Given the description of an element on the screen output the (x, y) to click on. 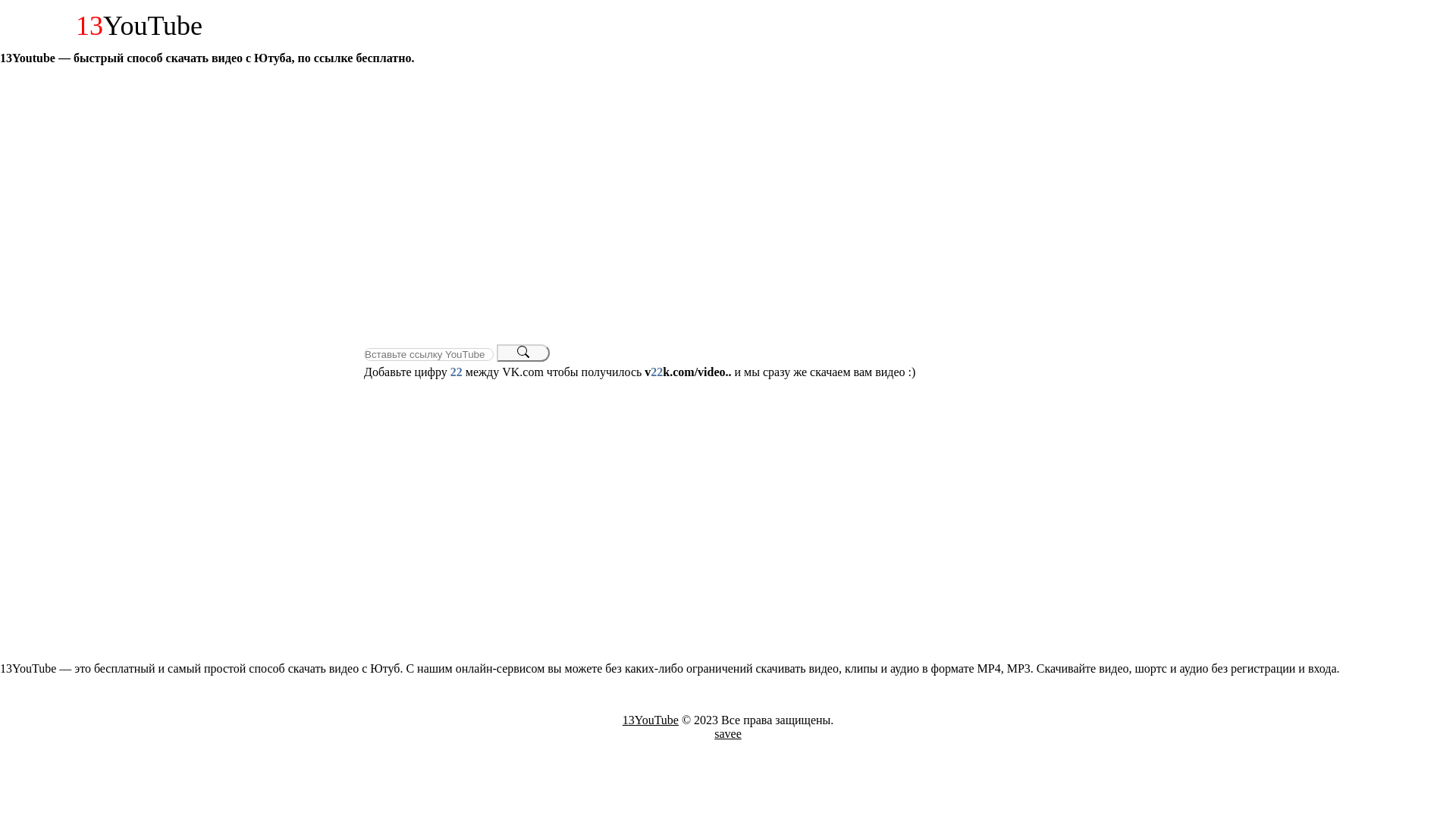
13YouTube Element type: text (650, 719)
savee Element type: text (727, 733)
